Given the description of an element on the screen output the (x, y) to click on. 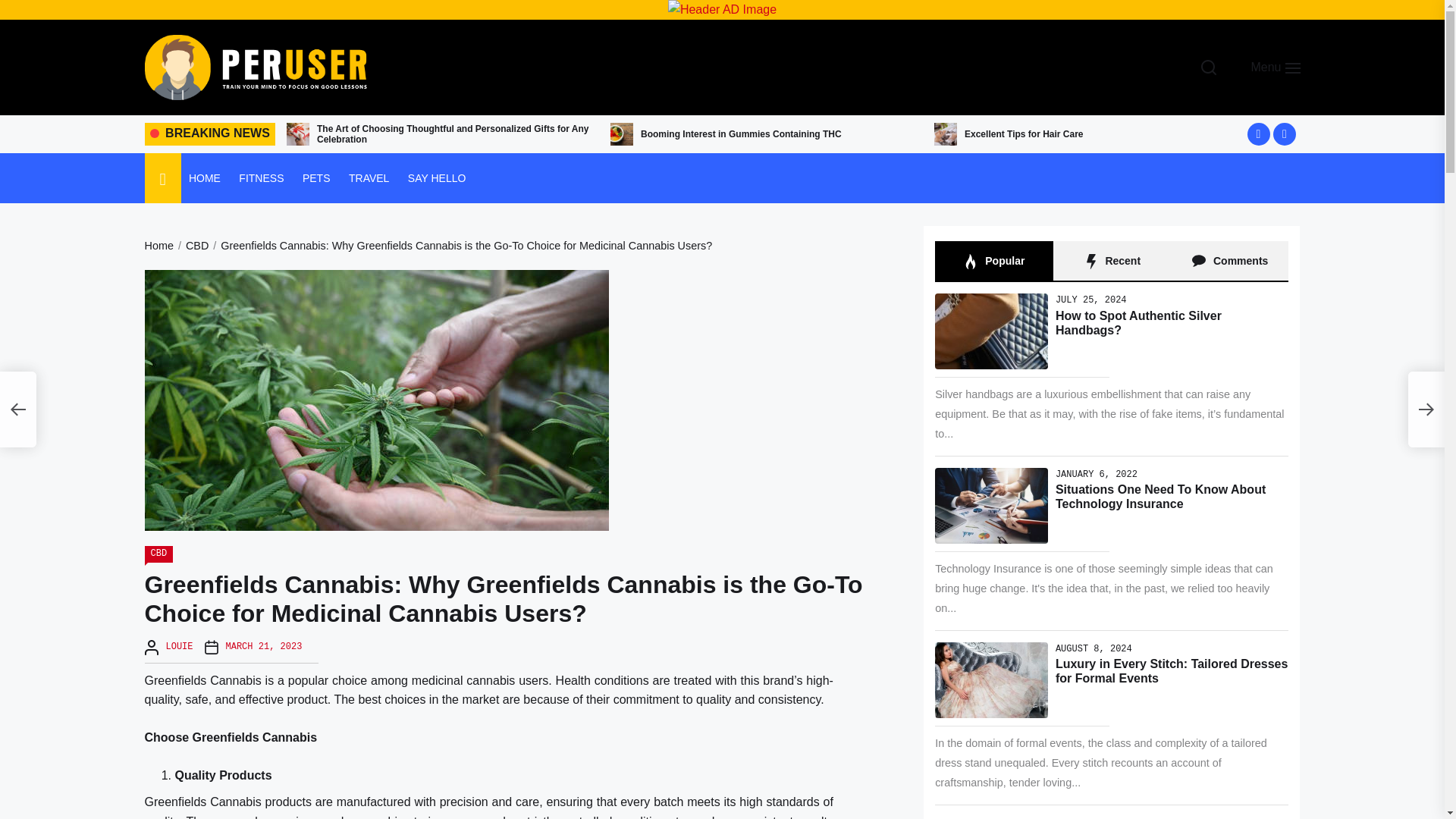
Excellent Tips for Hair Care (1023, 133)
Booming Interest in Gummies Containing THC (740, 133)
Per User (219, 136)
Menu (1272, 67)
Header AD Image (722, 9)
